Given the description of an element on the screen output the (x, y) to click on. 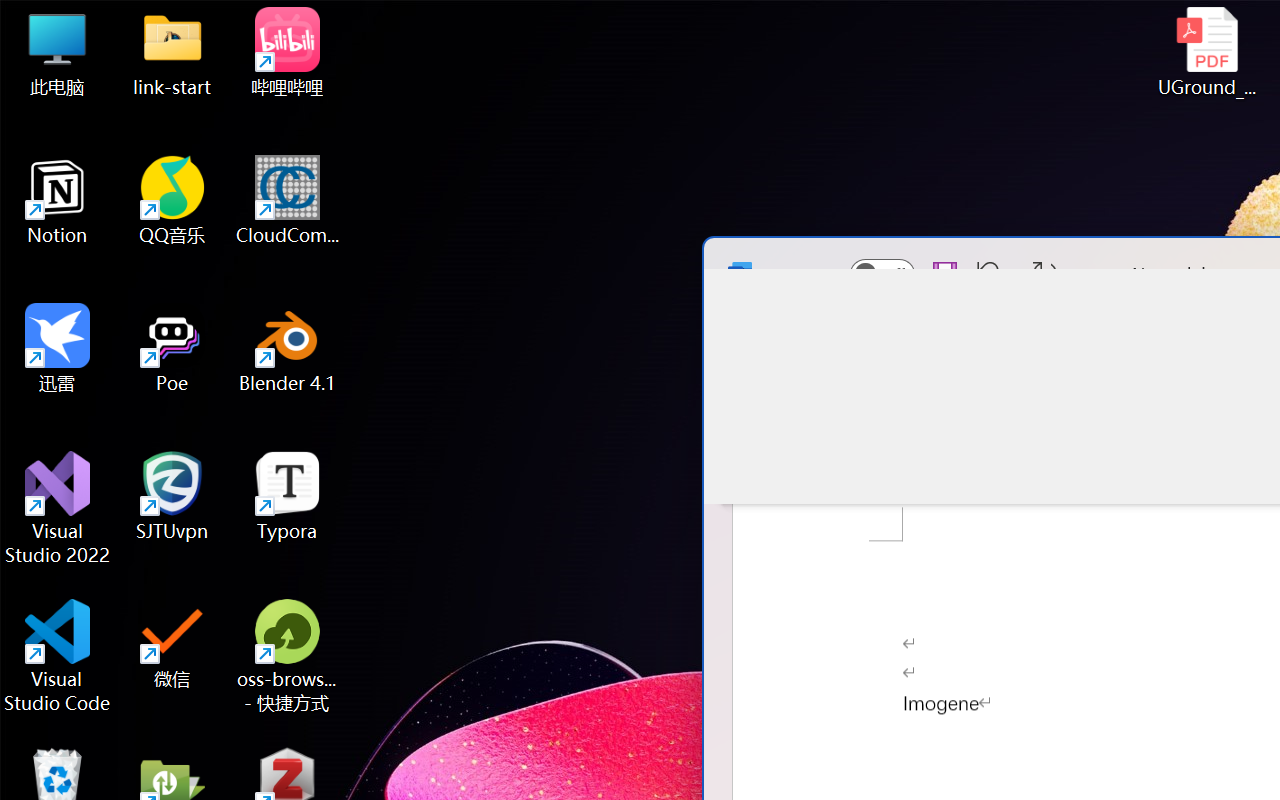
Pen: Black, 0.5 mm (985, 411)
Visual Studio Code (57, 656)
Visual Studio 2022 (57, 508)
Repeat Paragraph Formatting (1045, 273)
Undo Paragraph Formatting (984, 273)
